Given the description of an element on the screen output the (x, y) to click on. 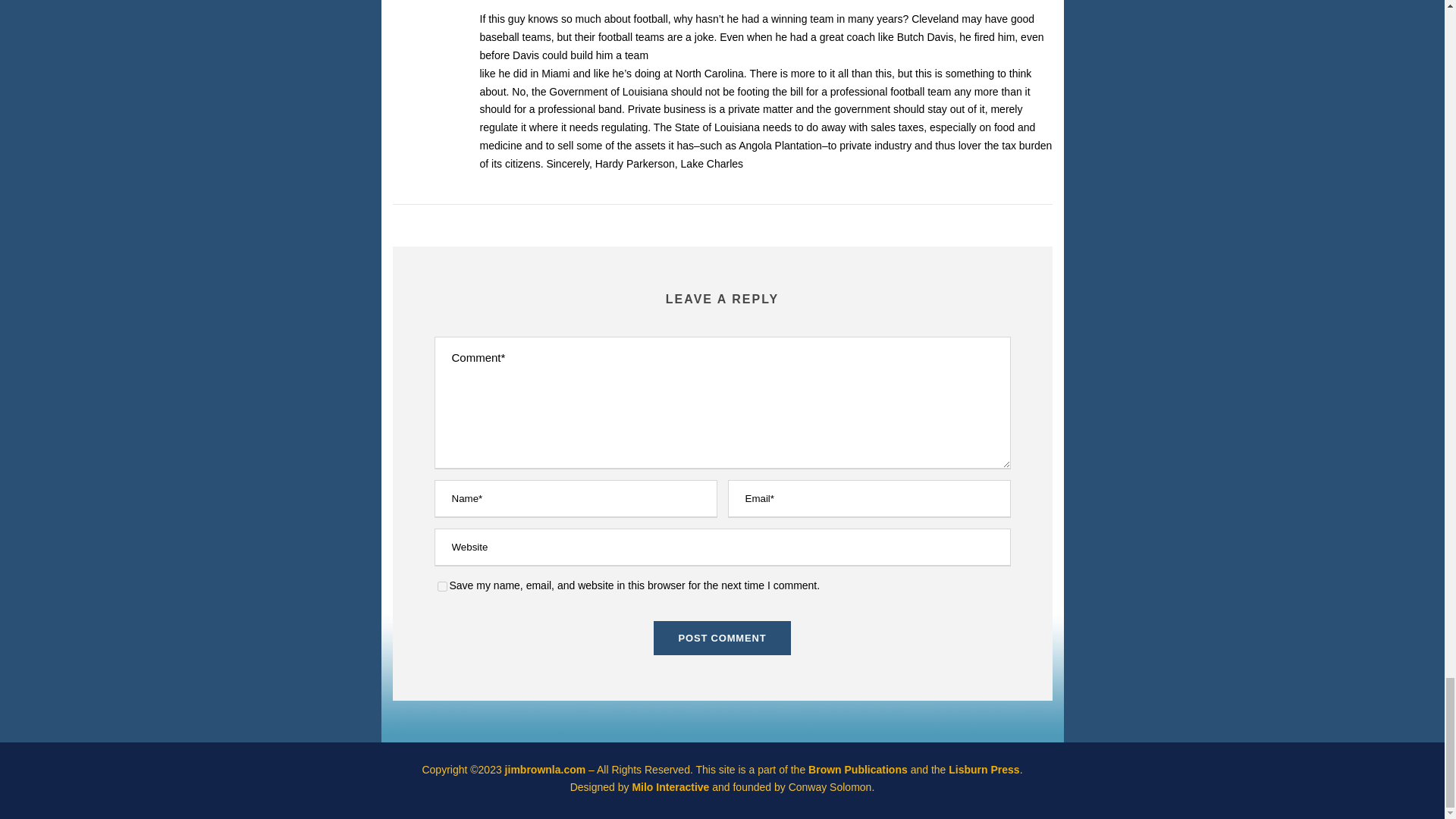
Brown Publications (857, 769)
jimbrownla.com (545, 769)
Lisburn Press (984, 769)
Milo Interactive  (671, 787)
Post Comment (722, 637)
Post Comment (722, 637)
yes (441, 586)
